Given the description of an element on the screen output the (x, y) to click on. 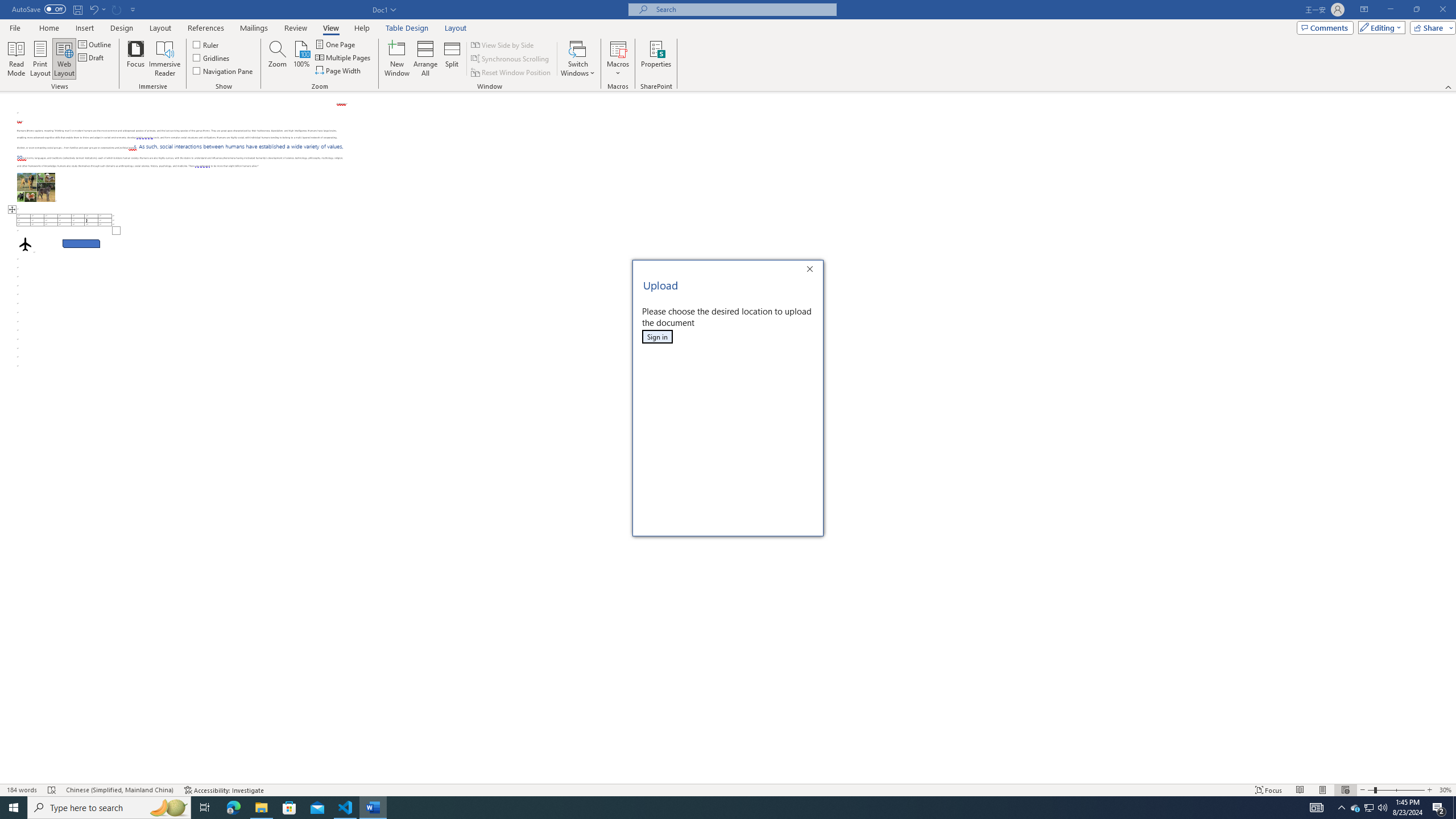
Editing (1379, 27)
Zoom... (276, 58)
Word Count 184 words (22, 790)
Airplane with solid fill (25, 243)
One Page (335, 44)
Ruler (206, 44)
Immersive Reader (165, 58)
Split (451, 58)
Navigation Pane (223, 69)
